Given the description of an element on the screen output the (x, y) to click on. 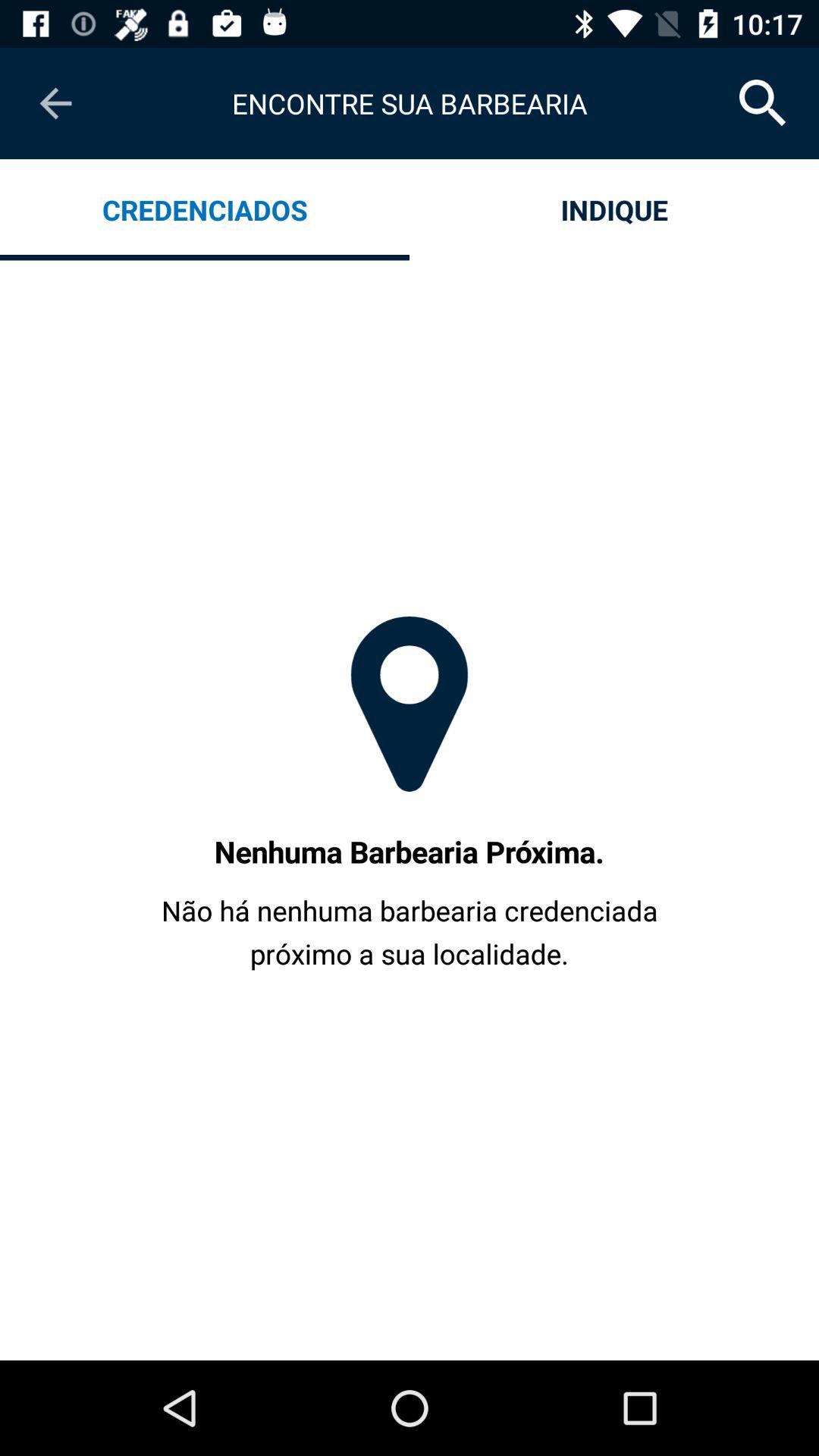
turn on app to the left of indique (204, 209)
